Given the description of an element on the screen output the (x, y) to click on. 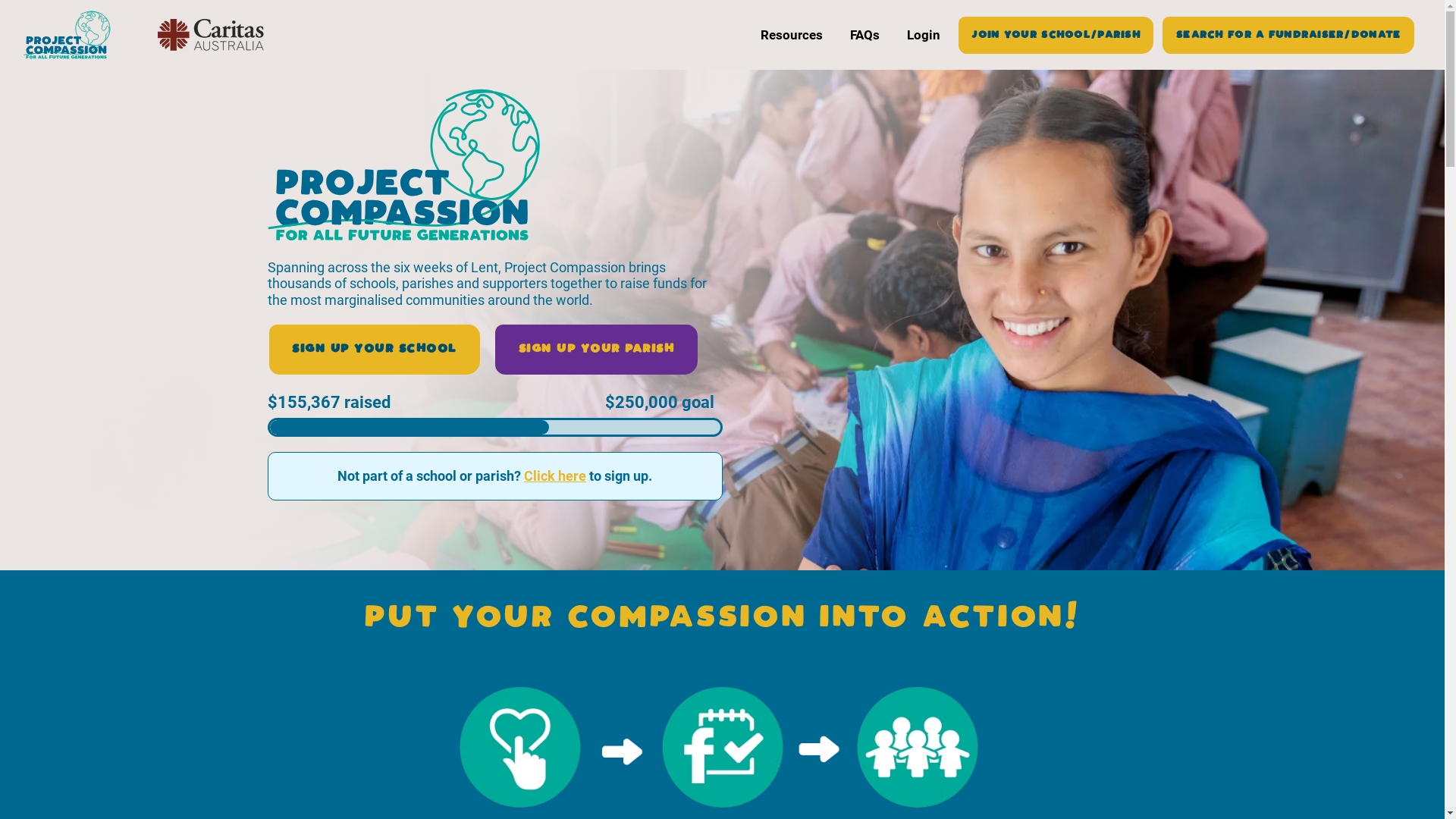
SIGN UP YOUR PARISH Element type: text (596, 349)
SEARCH FOR A FUNDRAISER/DONATE Element type: text (1288, 34)
Login Element type: text (923, 34)
Click here Element type: text (555, 475)
SIGN UP YOUR SCHOOL Element type: text (374, 349)
Resources Element type: text (791, 34)
JOIN YOUR SCHOOL/PARISH Element type: text (1056, 34)
FAQs Element type: text (864, 34)
